Given the description of an element on the screen output the (x, y) to click on. 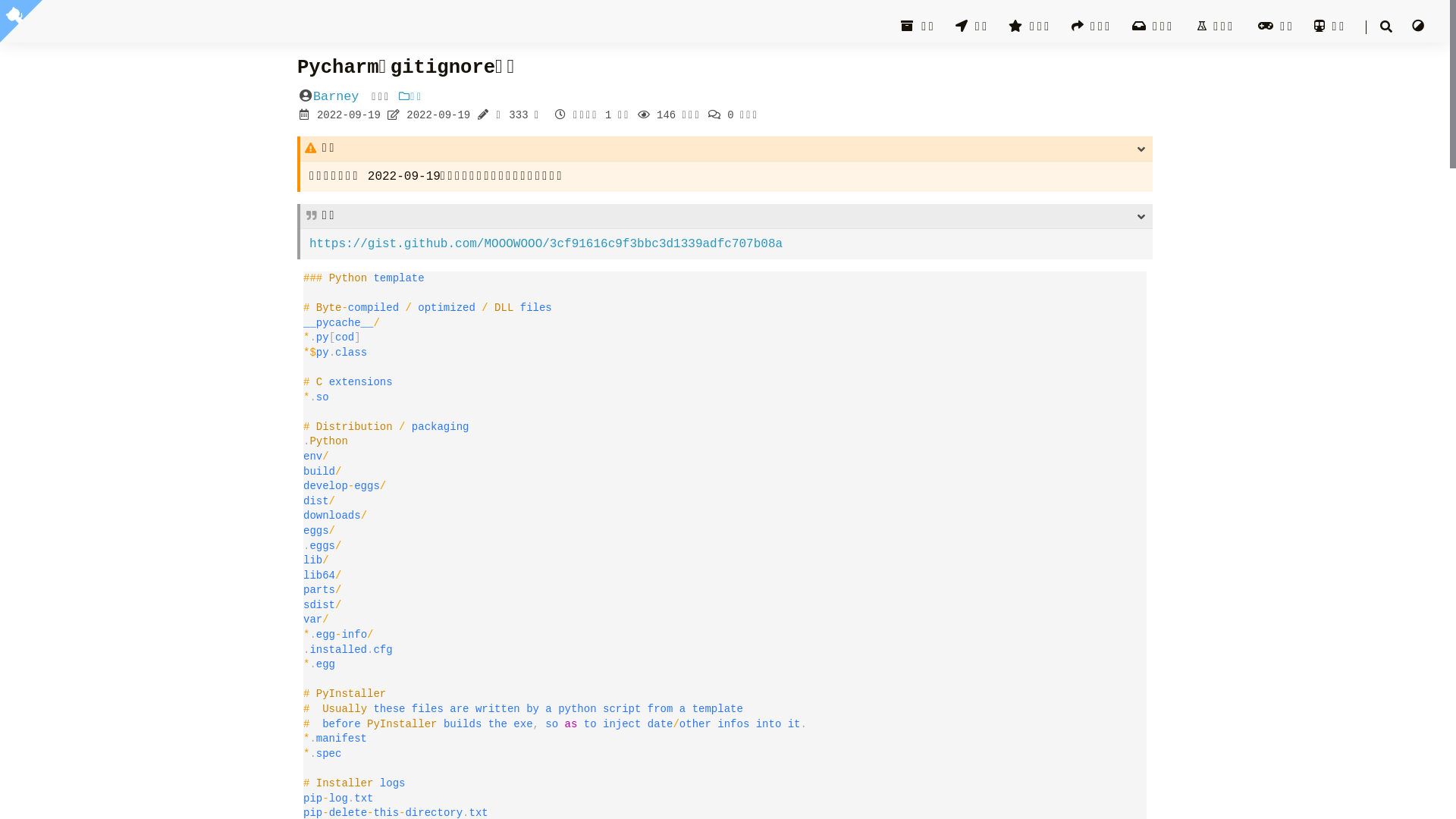
Barney Element type: text (335, 96)
Barney's Blog Element type: hover (186, 31)
